Given the description of an element on the screen output the (x, y) to click on. 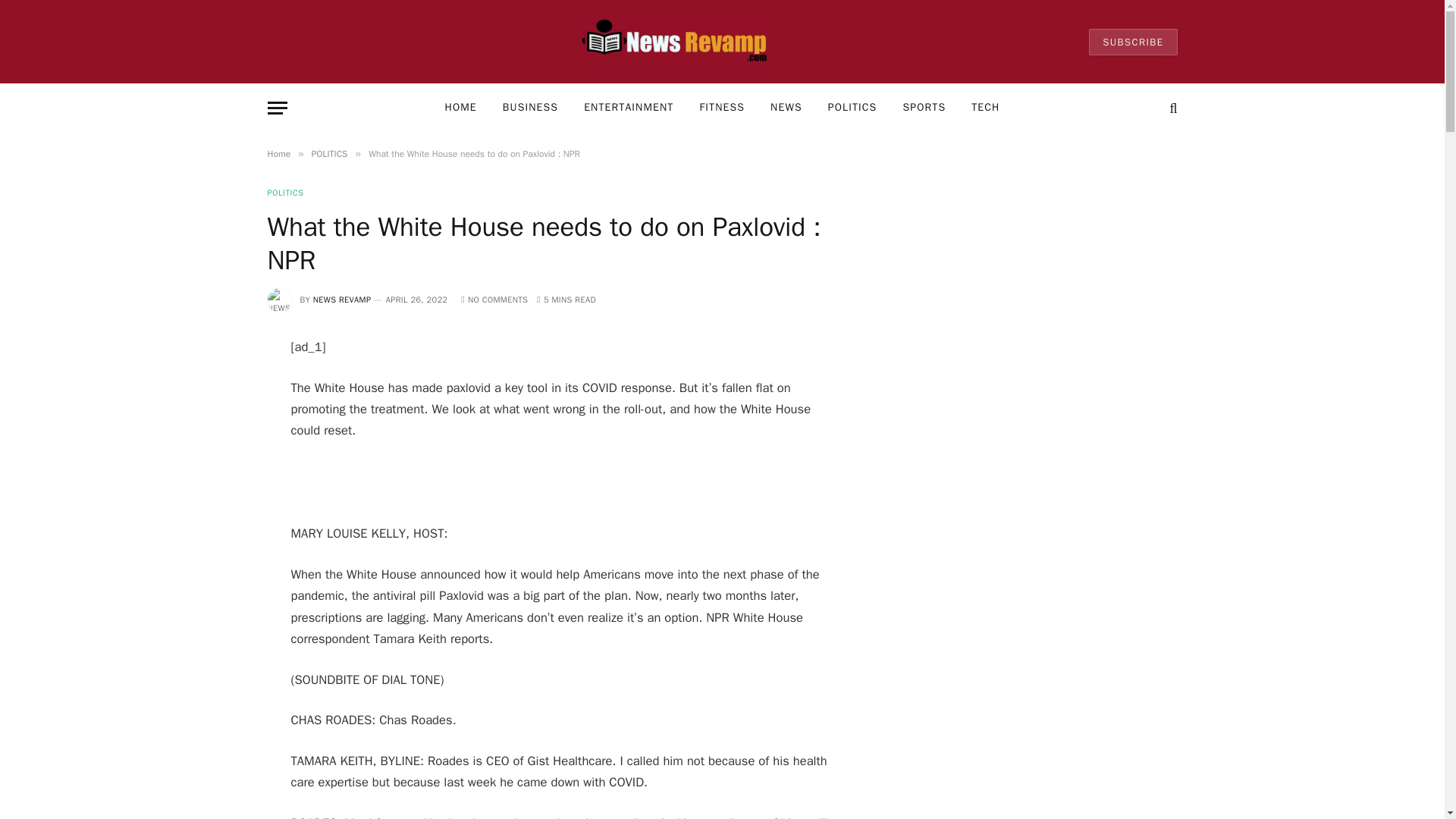
SUBSCRIBE (1132, 41)
TECH (984, 107)
POLITICS (852, 107)
News Revamp (677, 41)
Search (1171, 107)
FITNESS (721, 107)
Posts by News Revamp (342, 299)
NEWS REVAMP (342, 299)
ENTERTAINMENT (627, 107)
Home (277, 153)
SPORTS (923, 107)
POLITICS (329, 153)
HOME (460, 107)
NEWS (786, 107)
POLITICS (284, 192)
